Given the description of an element on the screen output the (x, y) to click on. 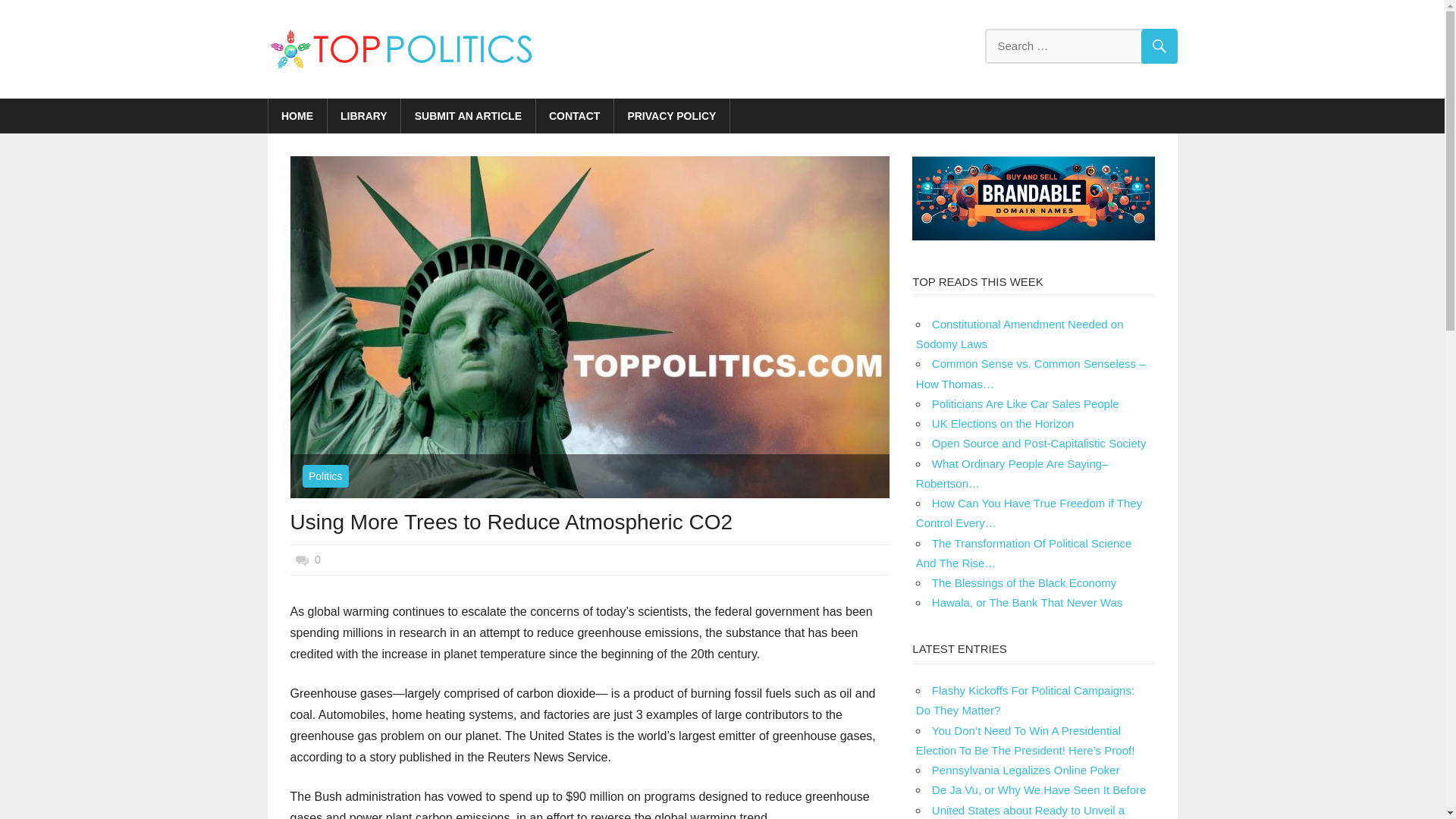
PRIVACY POLICY (672, 115)
Politicians Are Like Car Sales People (1025, 403)
Politics (324, 476)
View all posts by Top Politics (341, 559)
Pennsylvania Legalizes Online Poker (1025, 769)
11:04 am (357, 559)
Search for: (1080, 46)
Hawala, or The Bank That Never Was (1026, 602)
Flashy Kickoffs For Political Campaigns: Do They Matter? (1024, 699)
